Given the description of an element on the screen output the (x, y) to click on. 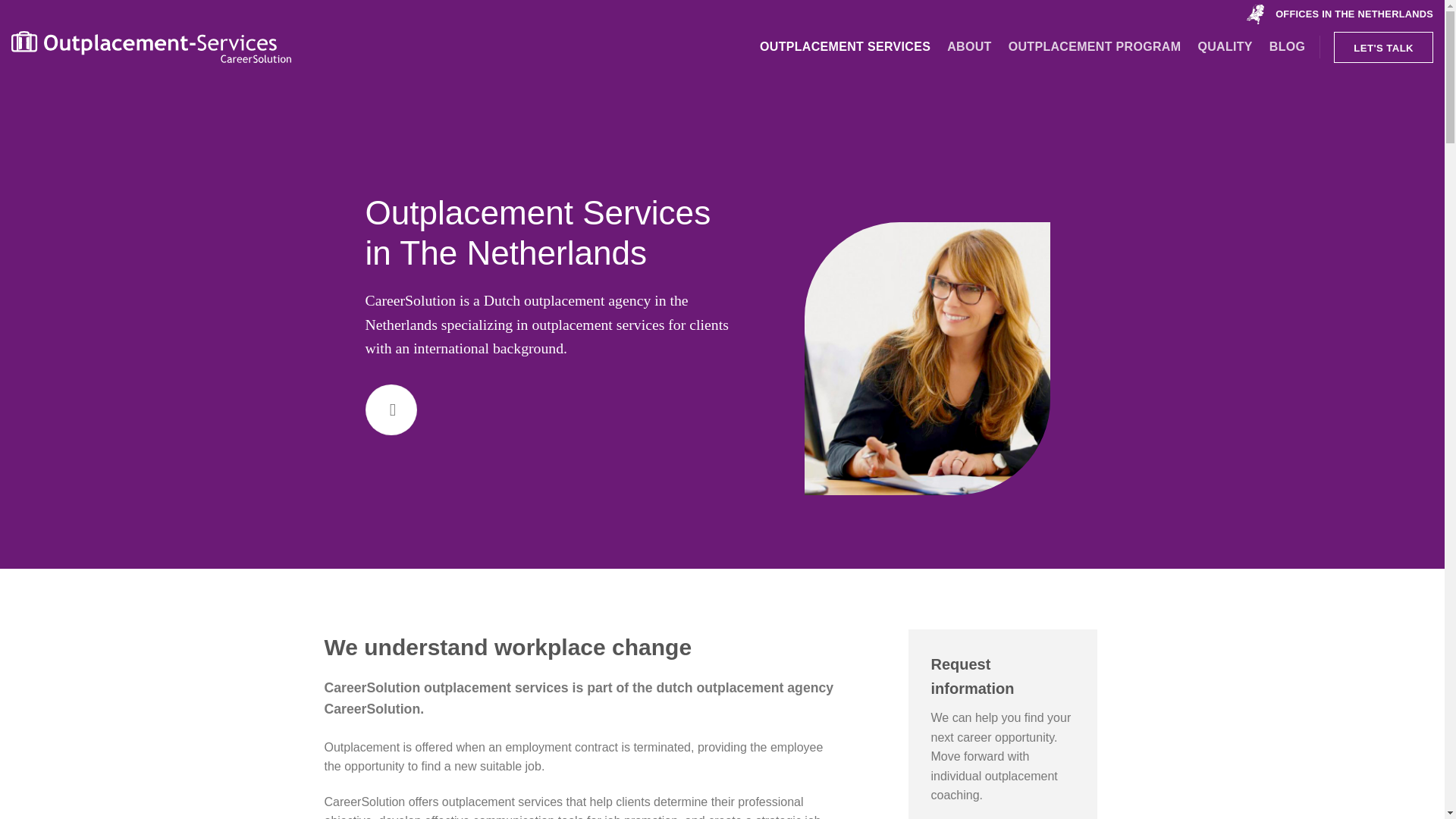
ABOUT (969, 46)
BLOG (1287, 46)
OUTPLACEMENT PROGRAM (1094, 46)
QUALITY (1224, 46)
OFFICES IN THE NETHERLANDS (1339, 13)
LET'S TALK (1382, 47)
OUTPLACEMENT SERVICES (845, 46)
